Given the description of an element on the screen output the (x, y) to click on. 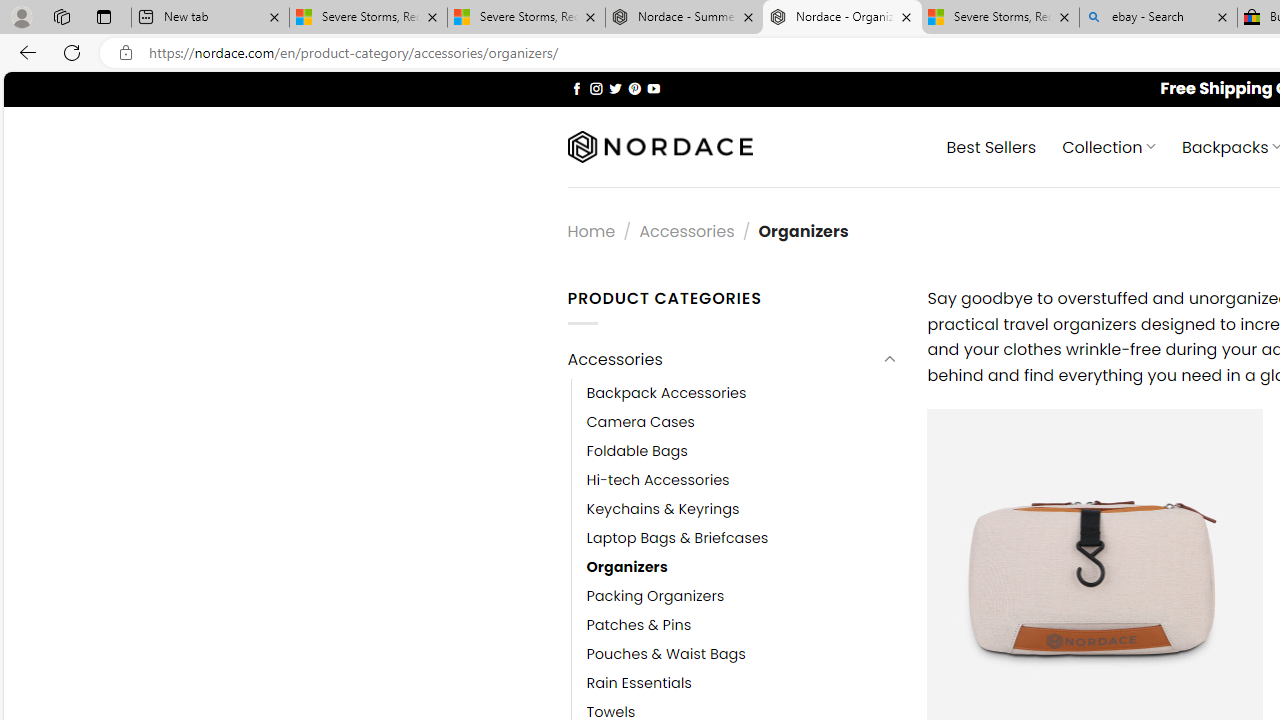
Home (591, 230)
Rain Essentials (742, 683)
Packing Organizers (655, 596)
Follow on Facebook (576, 88)
 Best Sellers (990, 146)
Rain Essentials (639, 683)
Camera Cases (742, 421)
Hi-tech Accessories (657, 480)
Keychains & Keyrings (742, 508)
Follow on Instagram (596, 88)
Foldable Bags (742, 450)
Follow on Pinterest (634, 88)
Patches & Pins (742, 625)
